Given the description of an element on the screen output the (x, y) to click on. 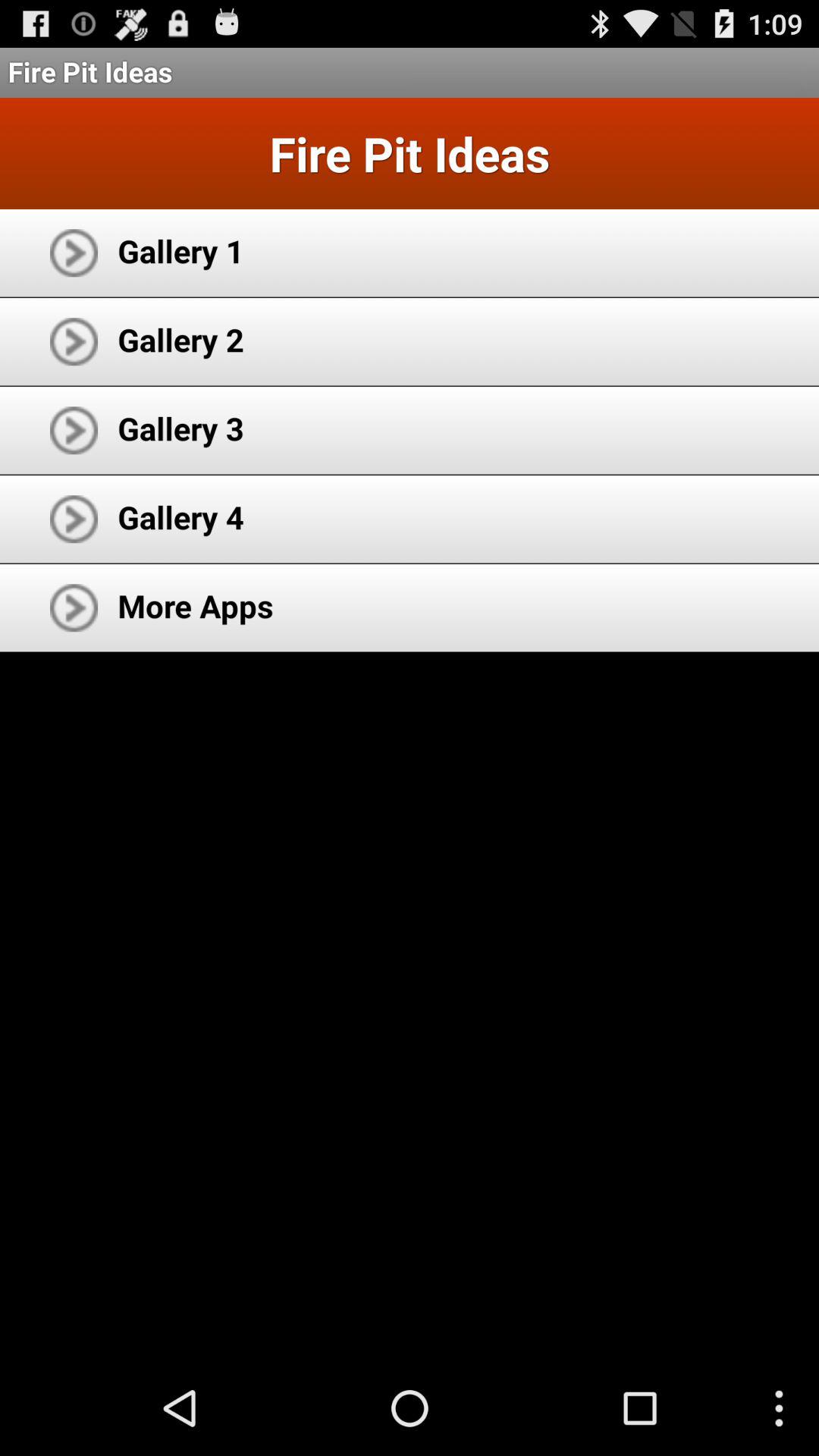
swipe to more apps item (195, 605)
